Given the description of an element on the screen output the (x, y) to click on. 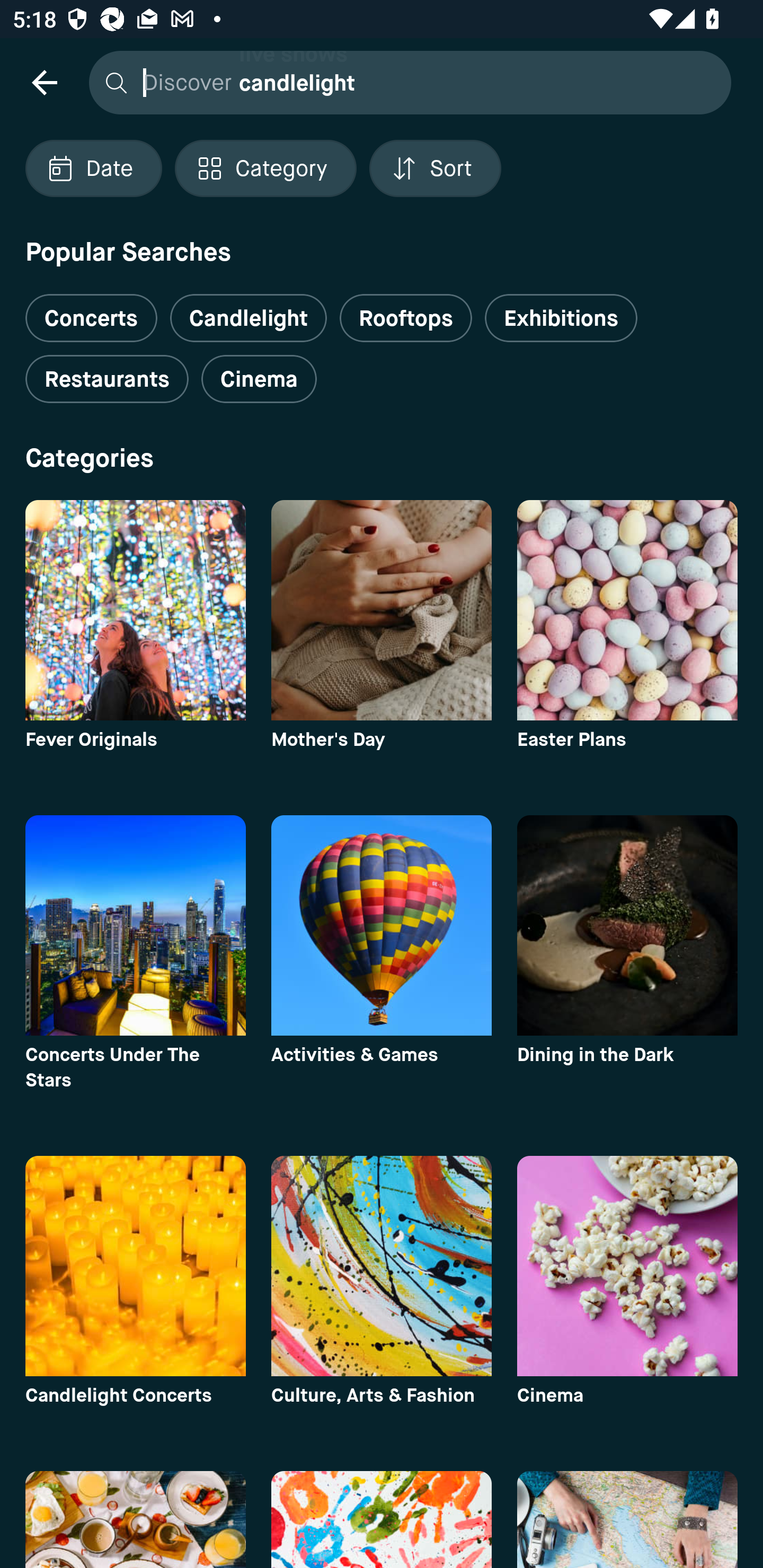
navigation icon (44, 81)
Discover live shows candlelight (405, 81)
Localized description Date (93, 168)
Localized description Category (265, 168)
Localized description Sort (435, 168)
Concerts (91, 310)
Candlelight (248, 317)
Rooftops (405, 317)
Exhibitions (560, 317)
Restaurants (106, 379)
Cinema (258, 379)
category image (135, 609)
category image (381, 609)
category image (627, 609)
category image (135, 924)
category image (381, 924)
category image (627, 924)
category image (135, 1265)
category image (381, 1265)
category image (627, 1265)
